Given the description of an element on the screen output the (x, y) to click on. 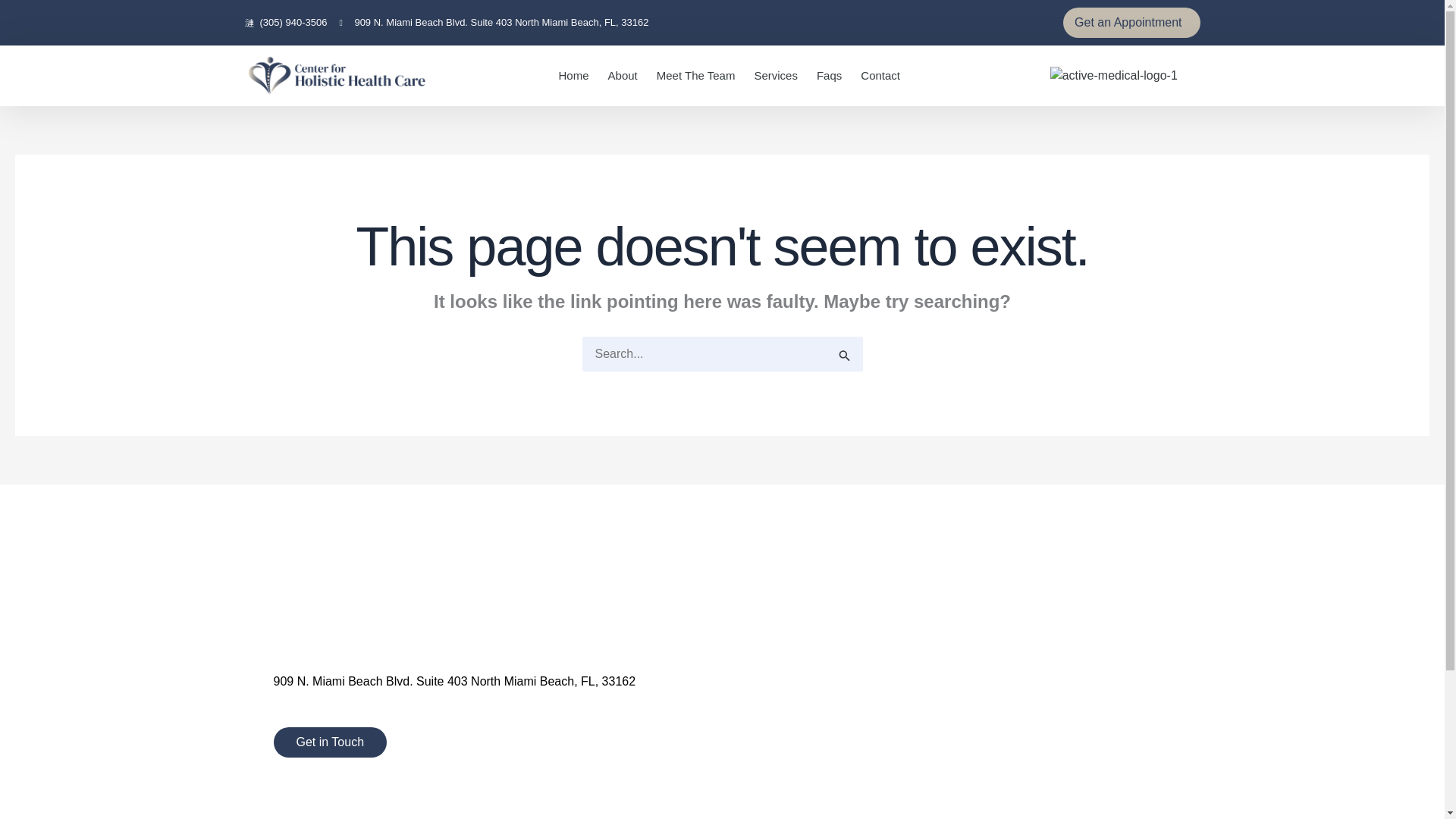
Home (574, 74)
active-medical-logo-1 (1113, 75)
Services (775, 74)
About (622, 74)
Meet The Team (695, 74)
Get an Appointment (1130, 22)
Faqs (828, 74)
Contact (879, 74)
